Given the description of an element on the screen output the (x, y) to click on. 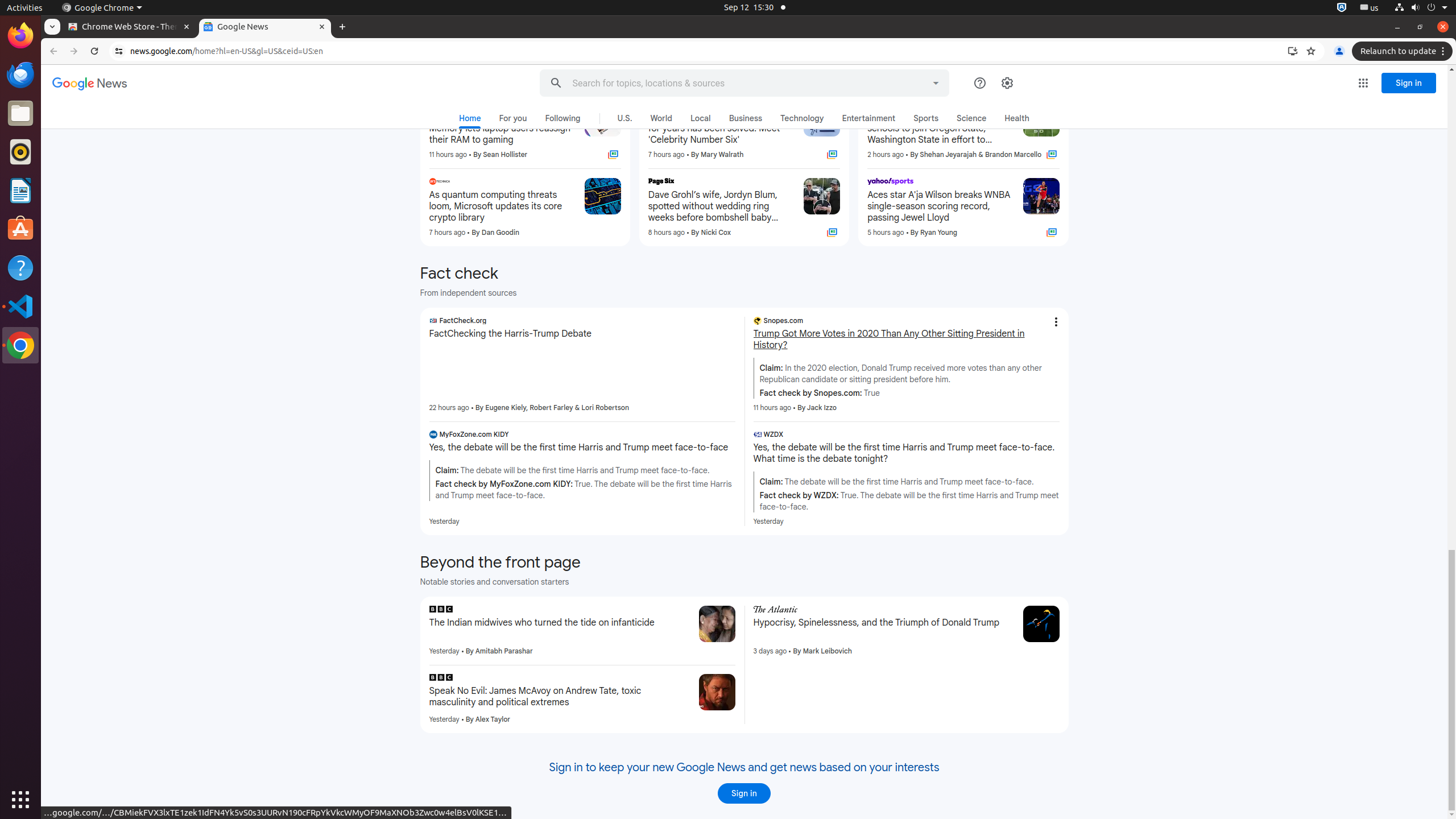
More - The Indian midwives who turned the tide on infanticide Element type: push-button (685, 610)
Business Element type: menu-item (745, 118)
LibreOffice Writer Element type: push-button (20, 190)
More - FactChecking the Harris-Trump Debate Element type: push-button (731, 321)
Rhythmbox Element type: push-button (20, 151)
